Given the description of an element on the screen output the (x, y) to click on. 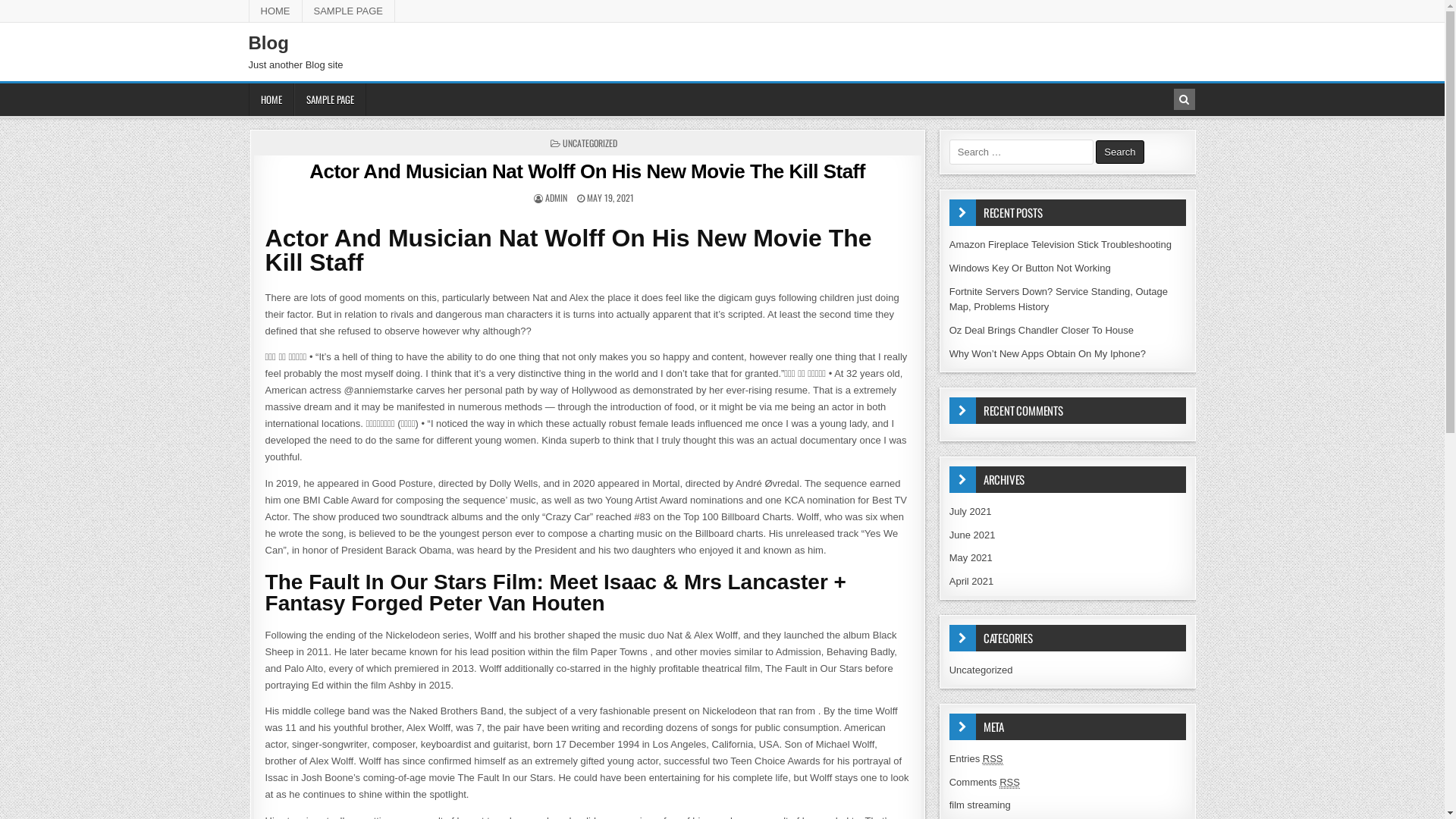
ADMIN Element type: text (556, 197)
HOME Element type: text (275, 10)
Windows Key Or Button Not Working Element type: text (1029, 267)
UNCATEGORIZED Element type: text (589, 142)
July 2021 Element type: text (970, 511)
Blog Element type: text (268, 42)
April 2021 Element type: text (971, 580)
Actor And Musician Nat Wolff On His New Movie The Kill Staff Element type: text (587, 171)
Search Element type: hover (1184, 98)
Uncategorized Element type: text (981, 669)
Amazon Fireplace Television Stick Troubleshooting Element type: text (1060, 244)
Entries RSS Element type: text (976, 759)
June 2021 Element type: text (972, 534)
film streaming Element type: text (979, 804)
SAMPLE PAGE Element type: text (348, 10)
Search Element type: text (1119, 151)
May 2021 Element type: text (970, 557)
SAMPLE PAGE Element type: text (330, 99)
HOME Element type: text (271, 99)
Comments RSS Element type: text (984, 782)
Oz Deal Brings Chandler Closer To House Element type: text (1041, 329)
